Given the description of an element on the screen output the (x, y) to click on. 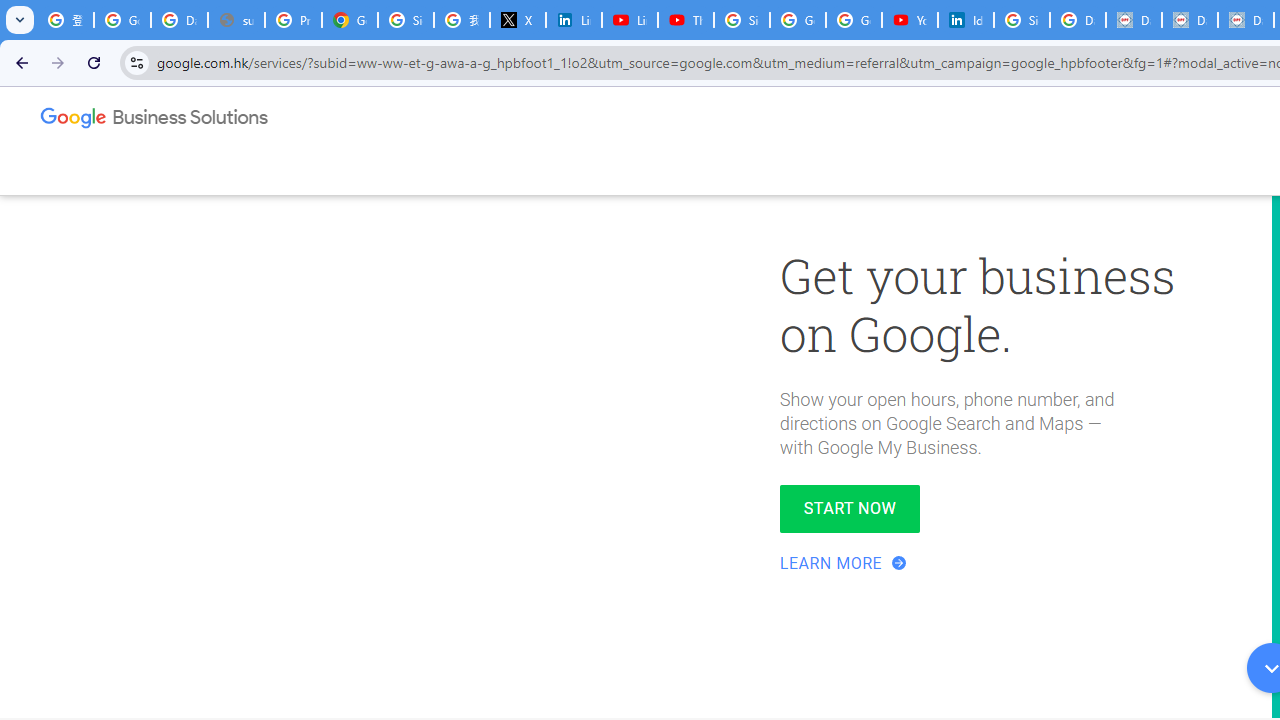
support.google.com - Network error (235, 20)
Sign in - Google Accounts (742, 20)
START NOW (850, 508)
